Given the description of an element on the screen output the (x, y) to click on. 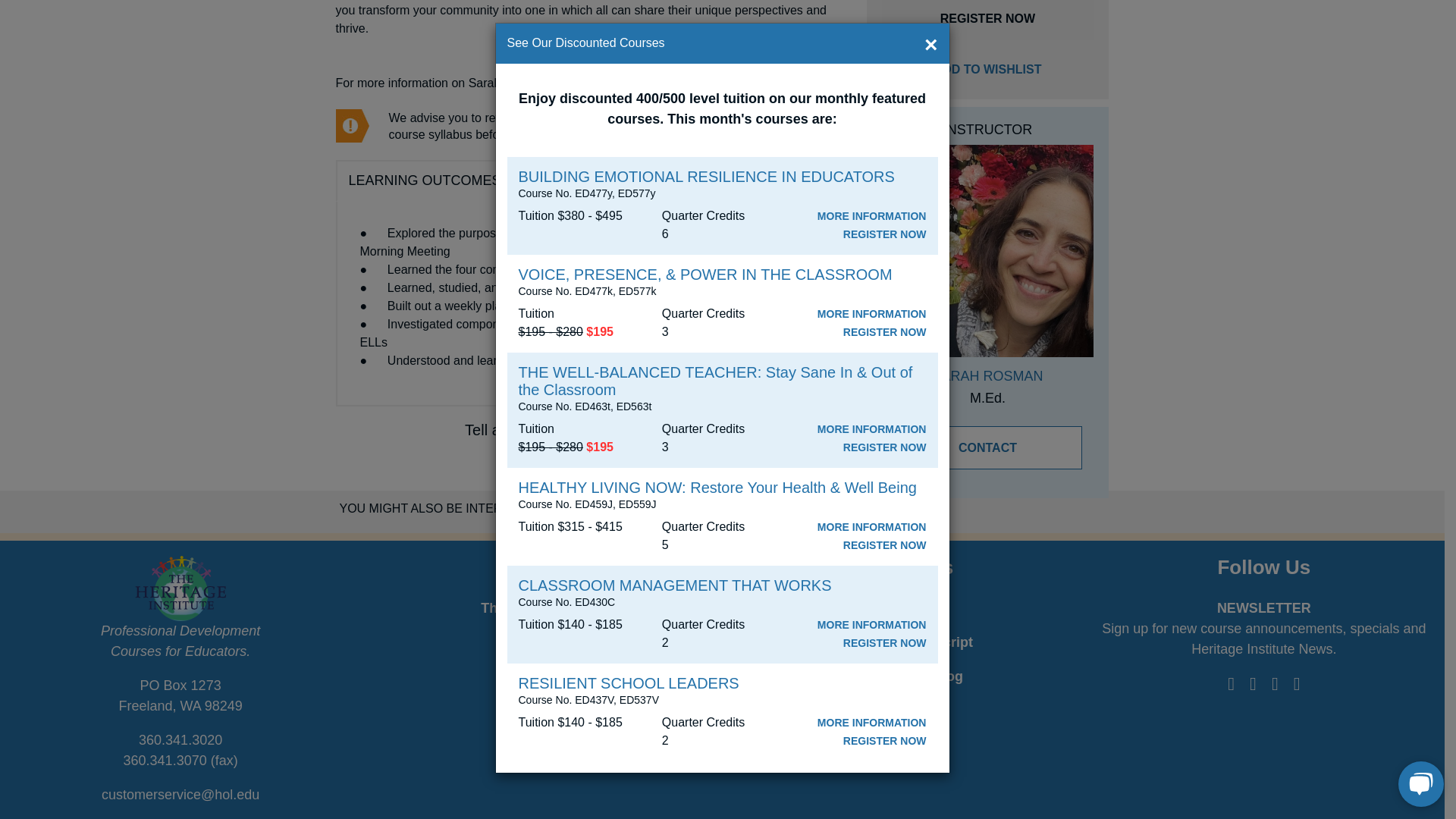
Materials (563, 184)
Learning Outcomes (423, 180)
www.sarahrosman.com (776, 82)
SYLLABUS (748, 126)
